Given the description of an element on the screen output the (x, y) to click on. 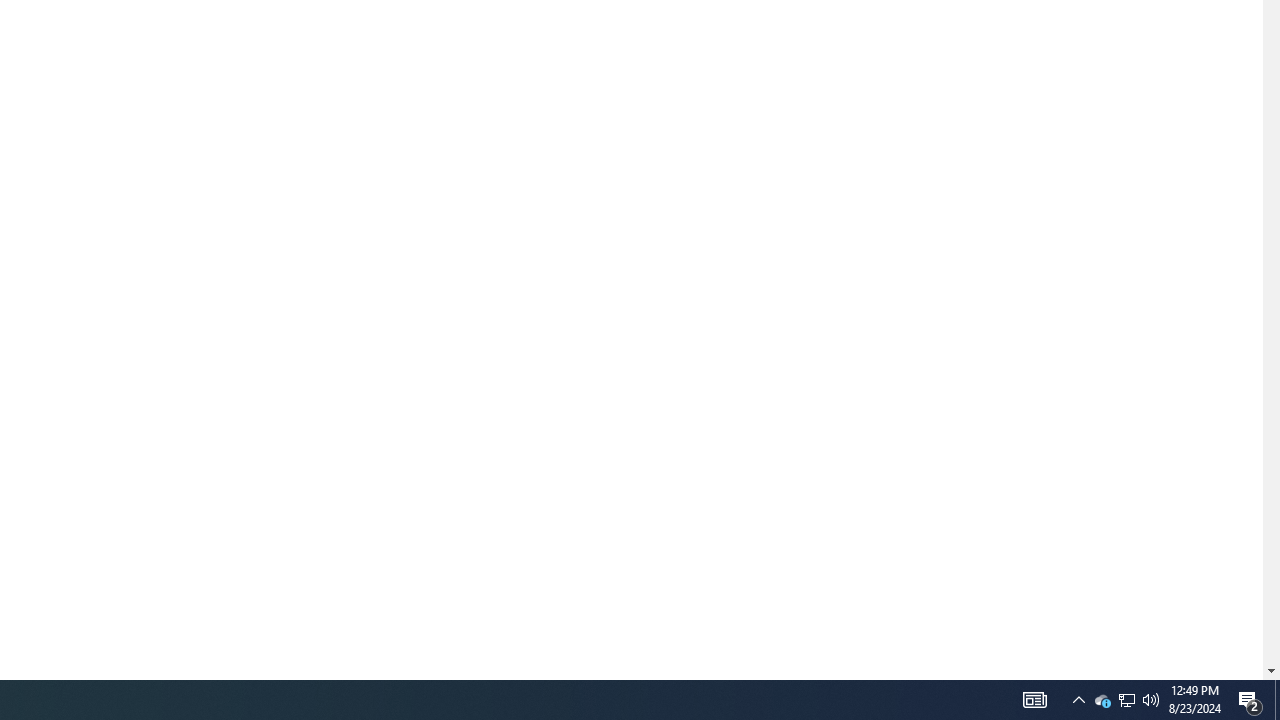
Action Center, 2 new notifications (1250, 699)
Notification Chevron (1078, 699)
User Promoted Notification Area (1102, 699)
Show desktop (1126, 699)
Q2790: 100% (1277, 699)
AutomationID: 4105 (1126, 699)
